Given the description of an element on the screen output the (x, y) to click on. 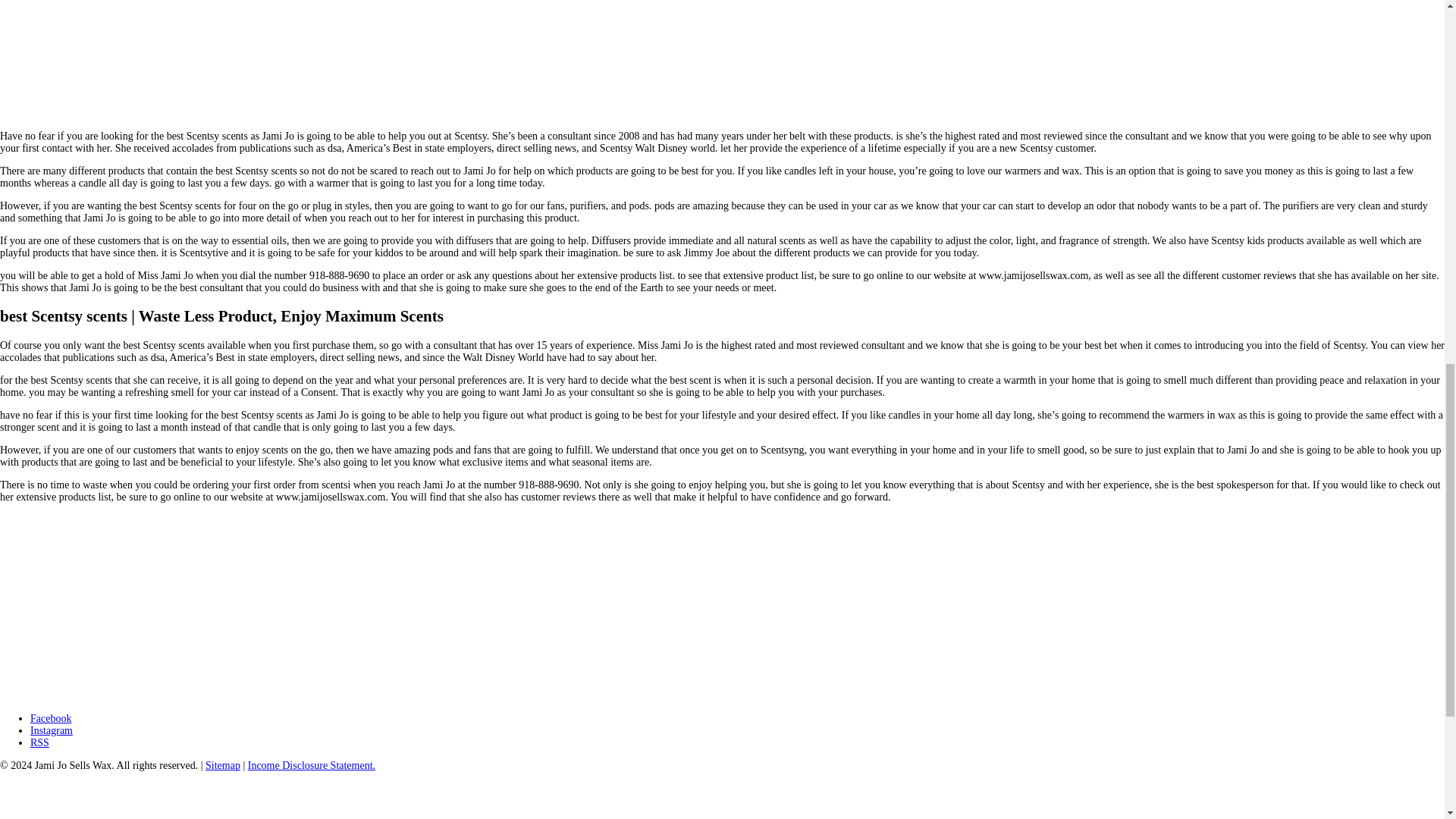
Instagram (51, 730)
Income Disclosure Statement. (311, 765)
Facebook (50, 717)
RSS (39, 742)
Sitemap (222, 765)
